Given the description of an element on the screen output the (x, y) to click on. 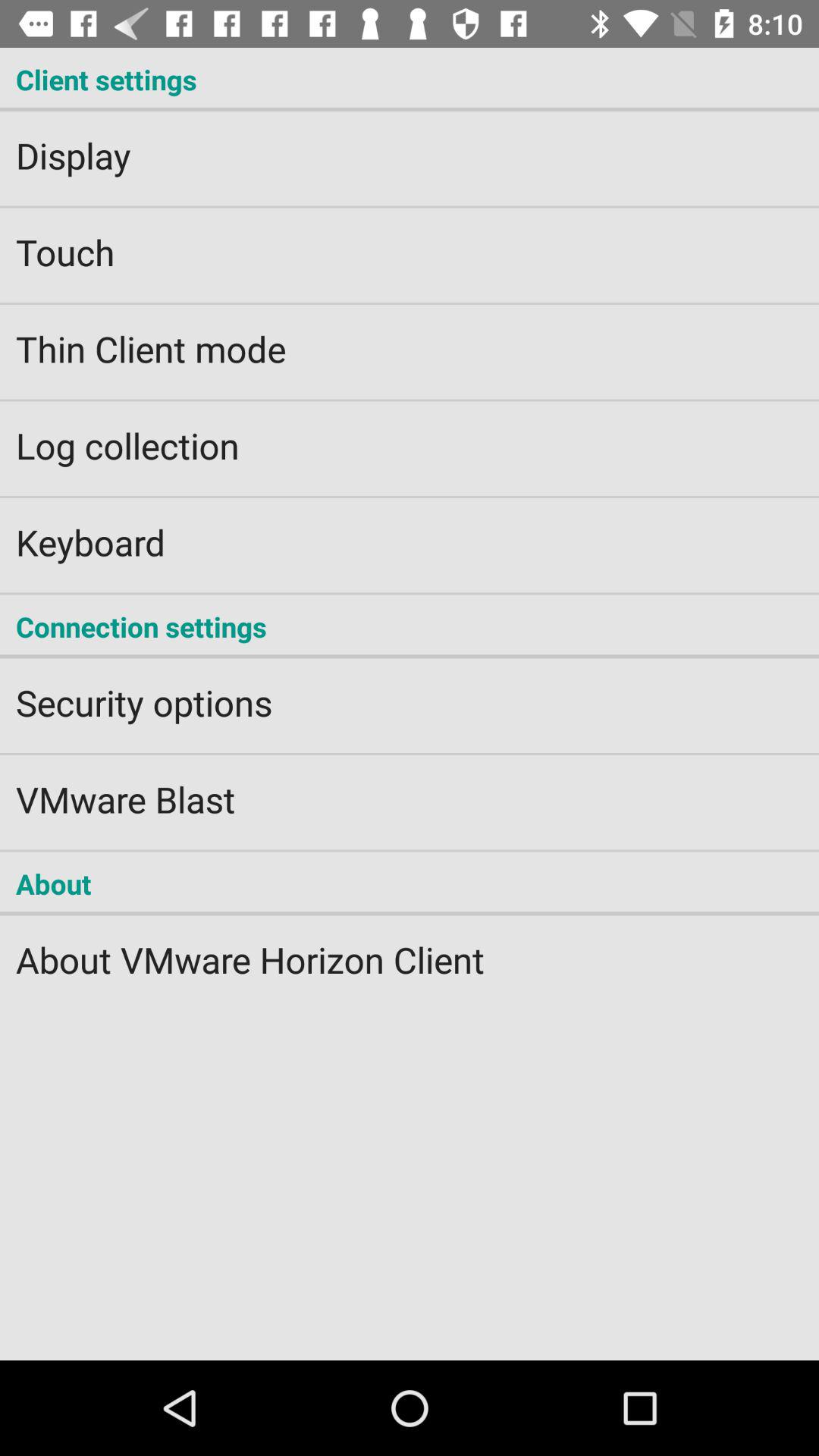
scroll to the keyboard item (409, 532)
